Given the description of an element on the screen output the (x, y) to click on. 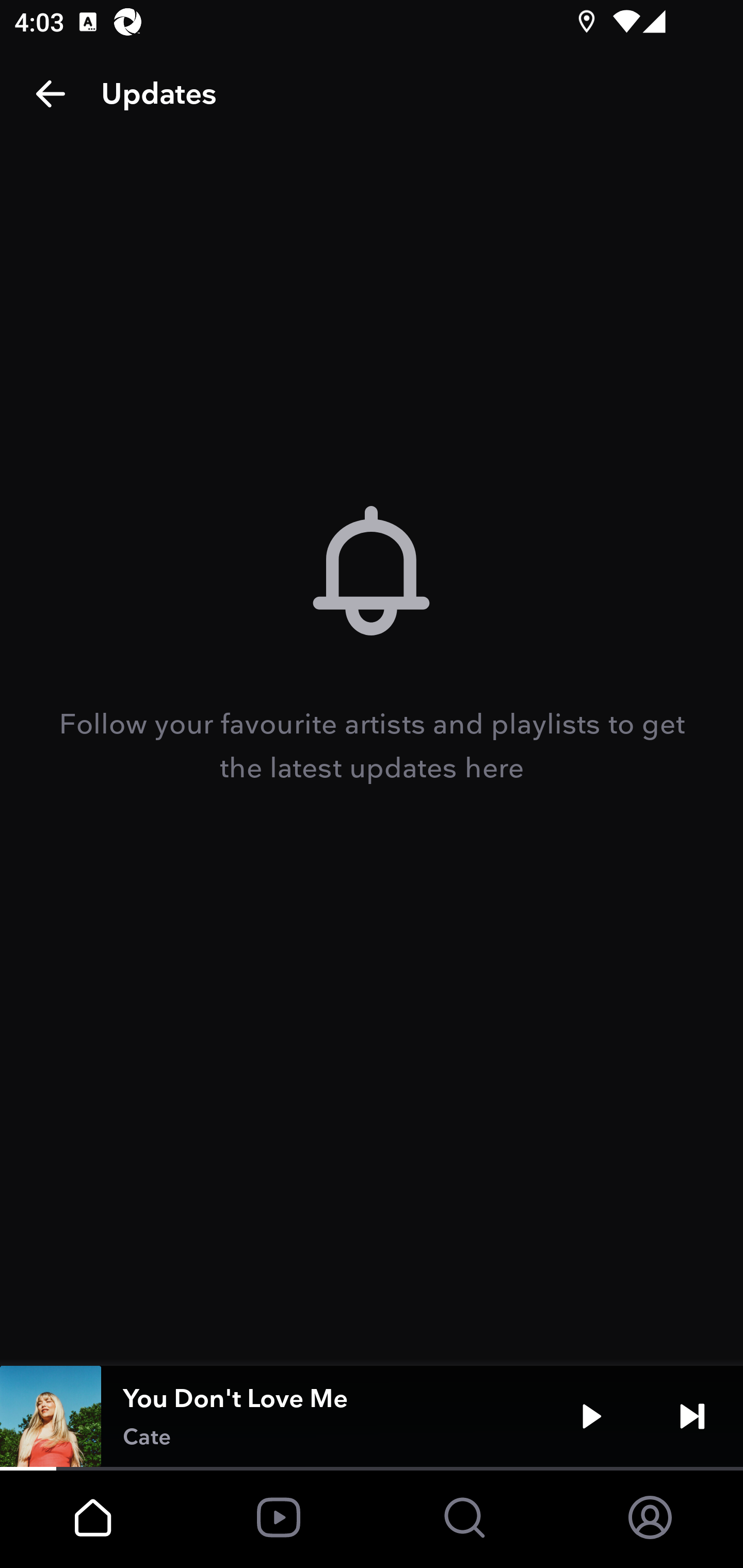
You Don't Love Me Cate Play (371, 1416)
Play (590, 1416)
